Given the description of an element on the screen output the (x, y) to click on. 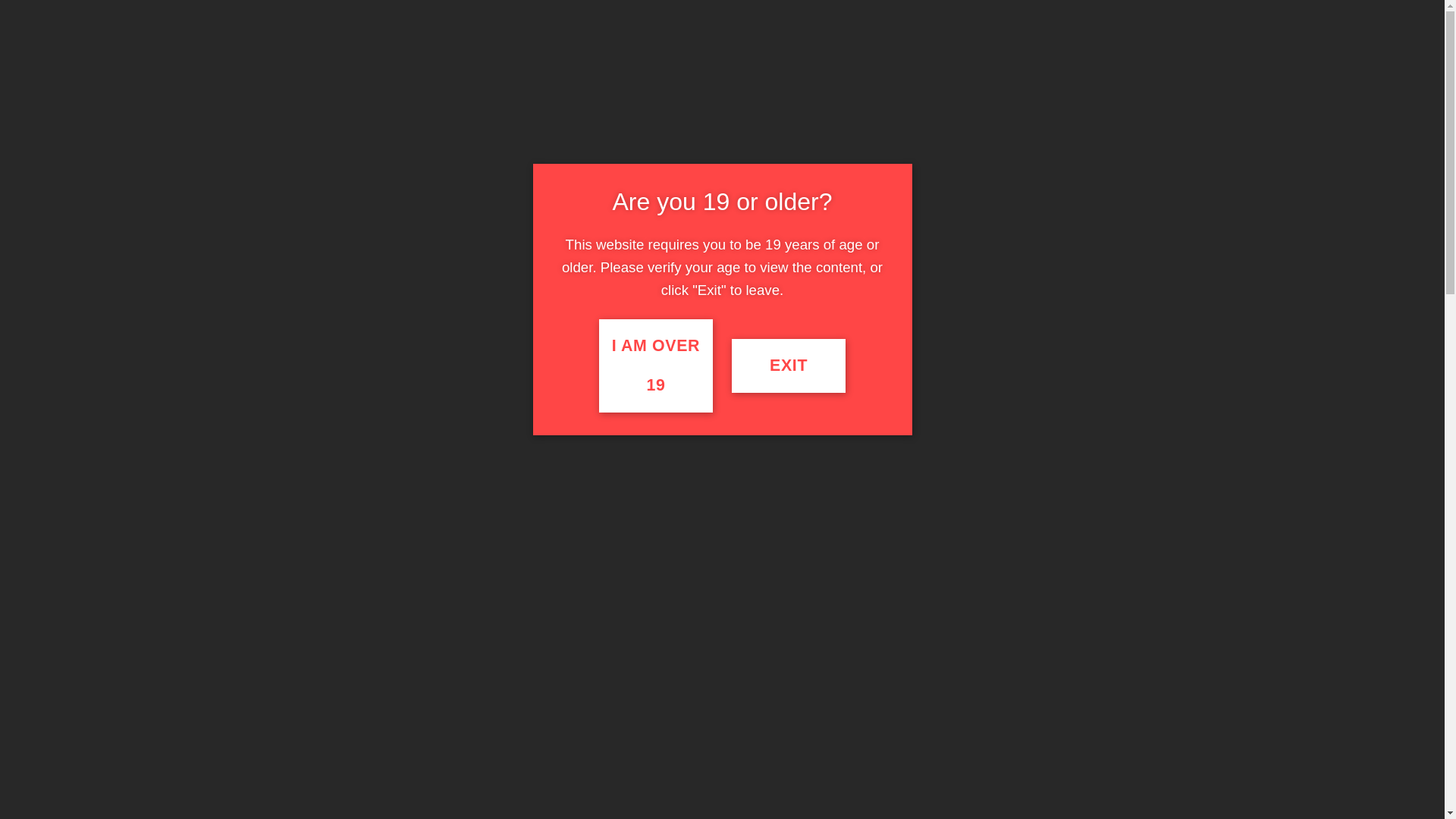
SHOP (341, 116)
My account (993, 11)
Cart (1079, 57)
REFER A FRIEND (839, 57)
TRACK YOUR ORDER (703, 57)
Search (556, 57)
Checkout (1056, 11)
